Given the description of an element on the screen output the (x, y) to click on. 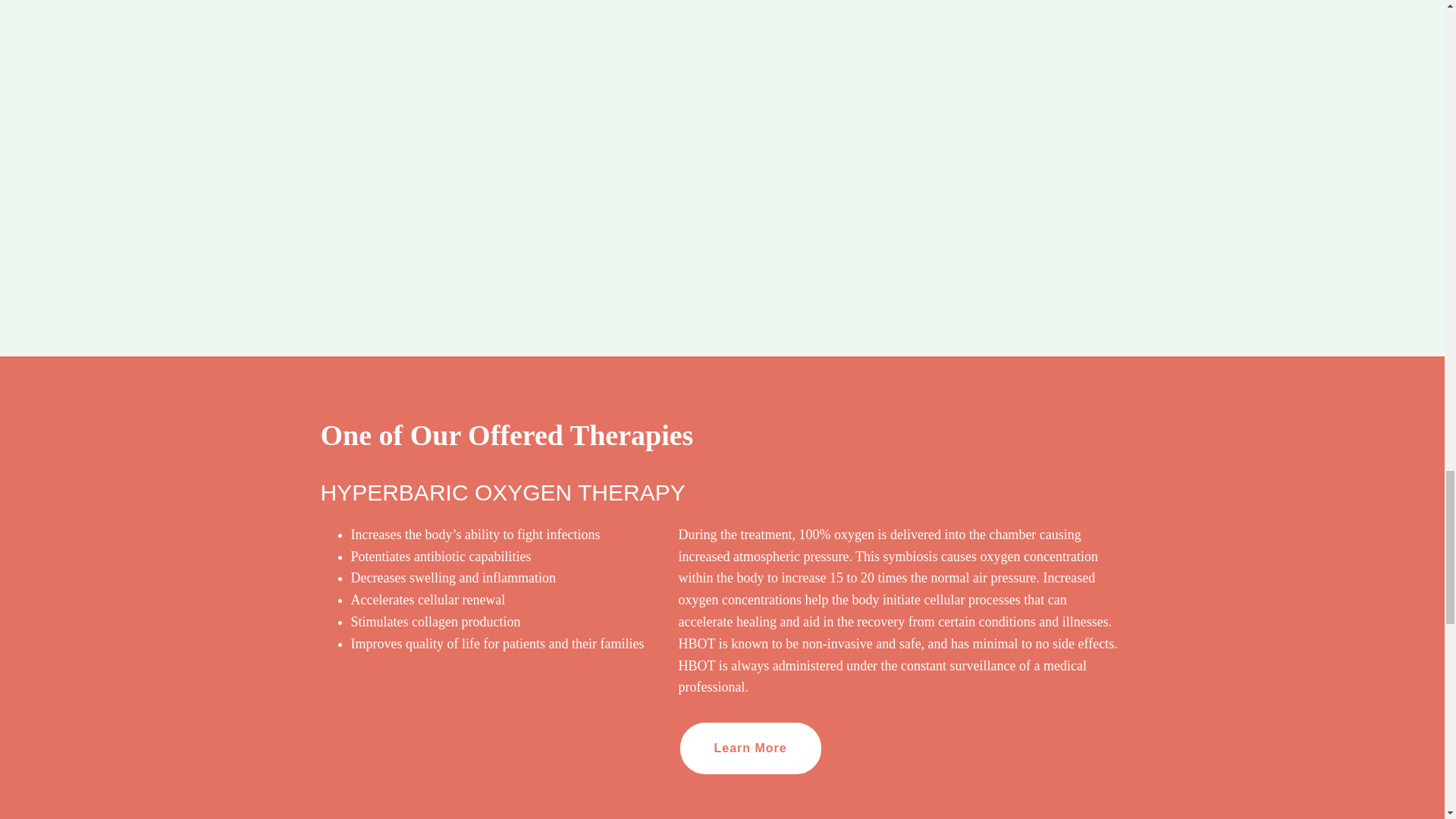
Learn More (750, 748)
